Given the description of an element on the screen output the (x, y) to click on. 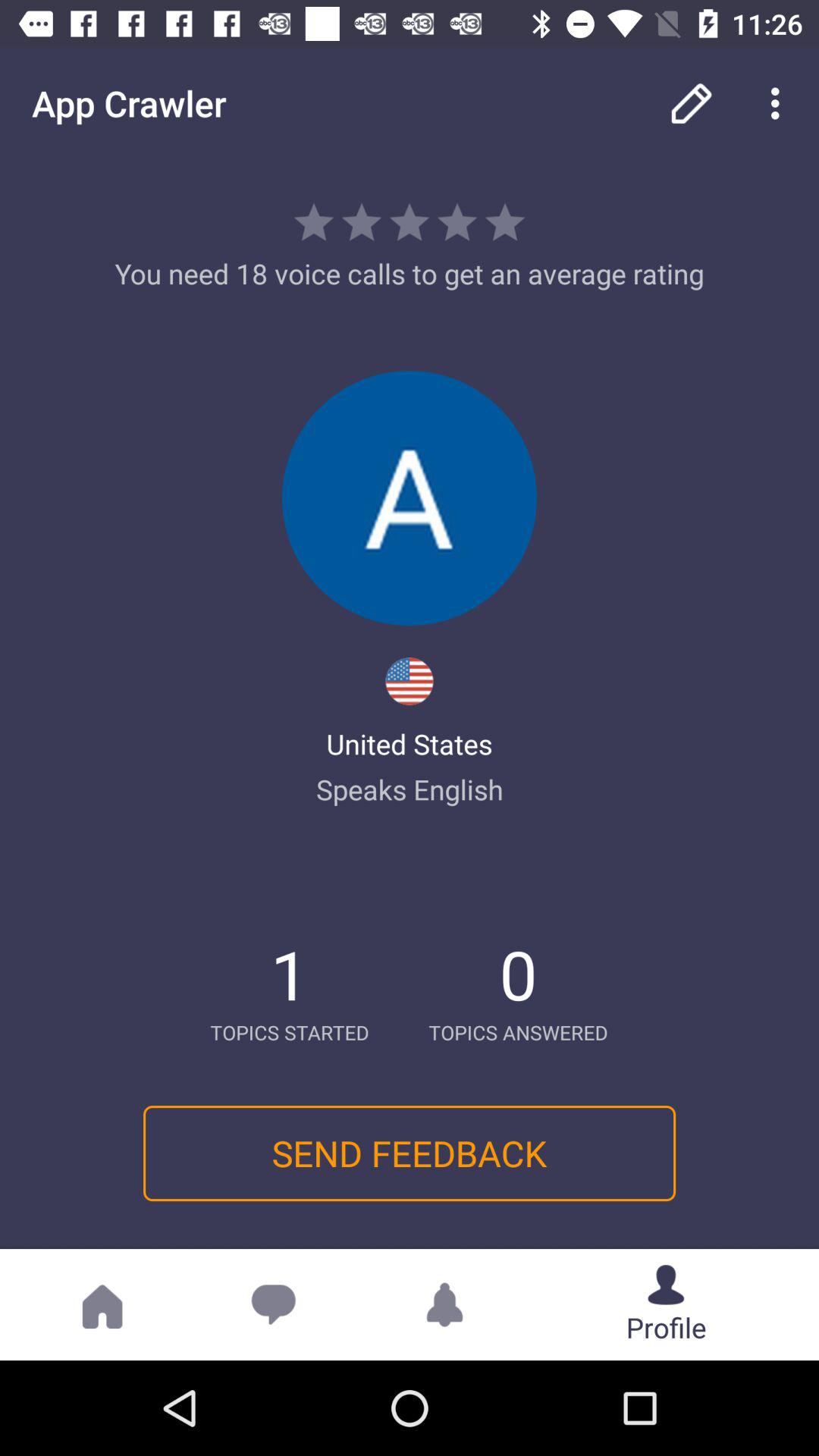
click to get profile image (409, 497)
